Given the description of an element on the screen output the (x, y) to click on. 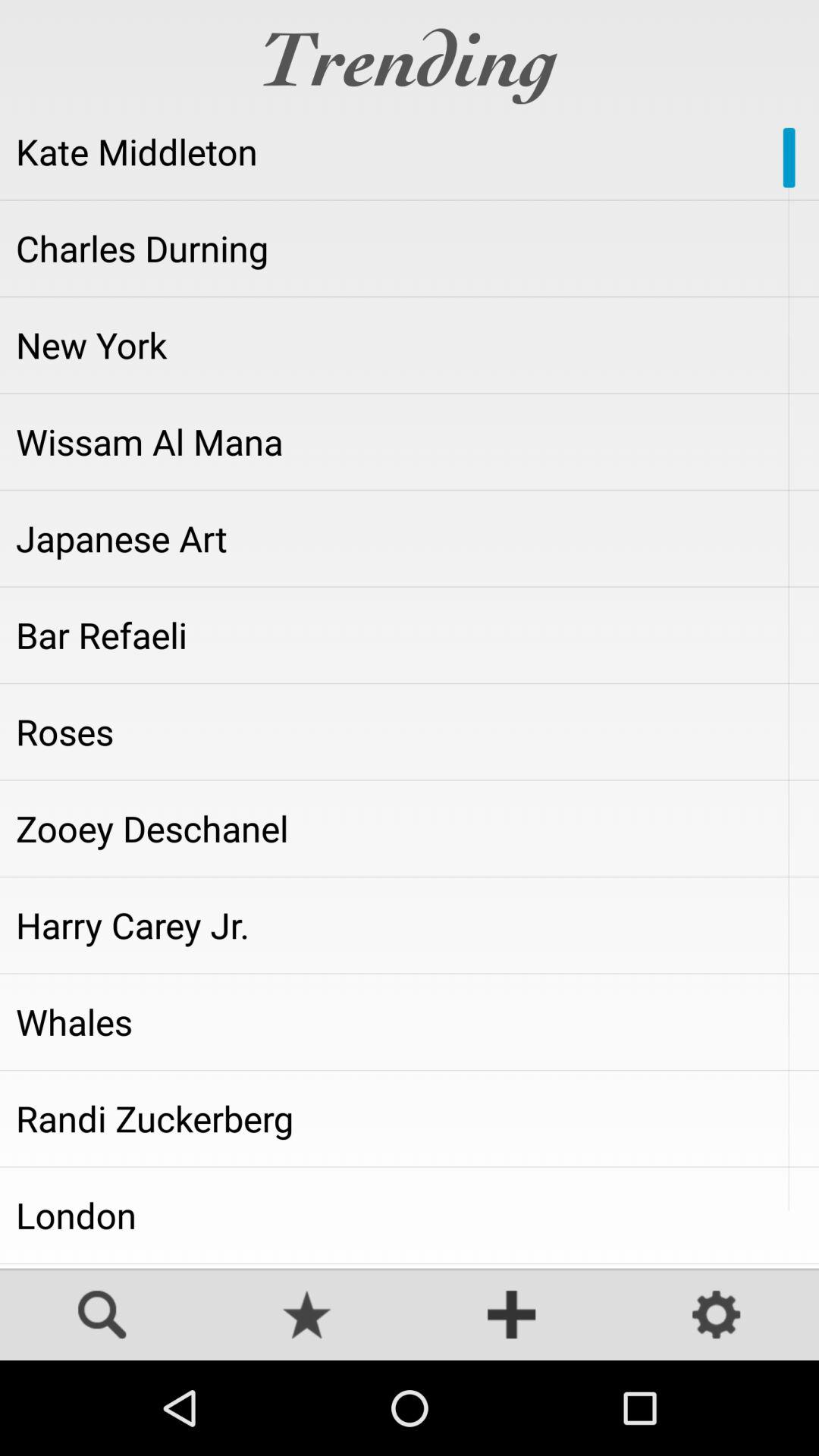
click the icon below charles durning item (409, 345)
